Given the description of an element on the screen output the (x, y) to click on. 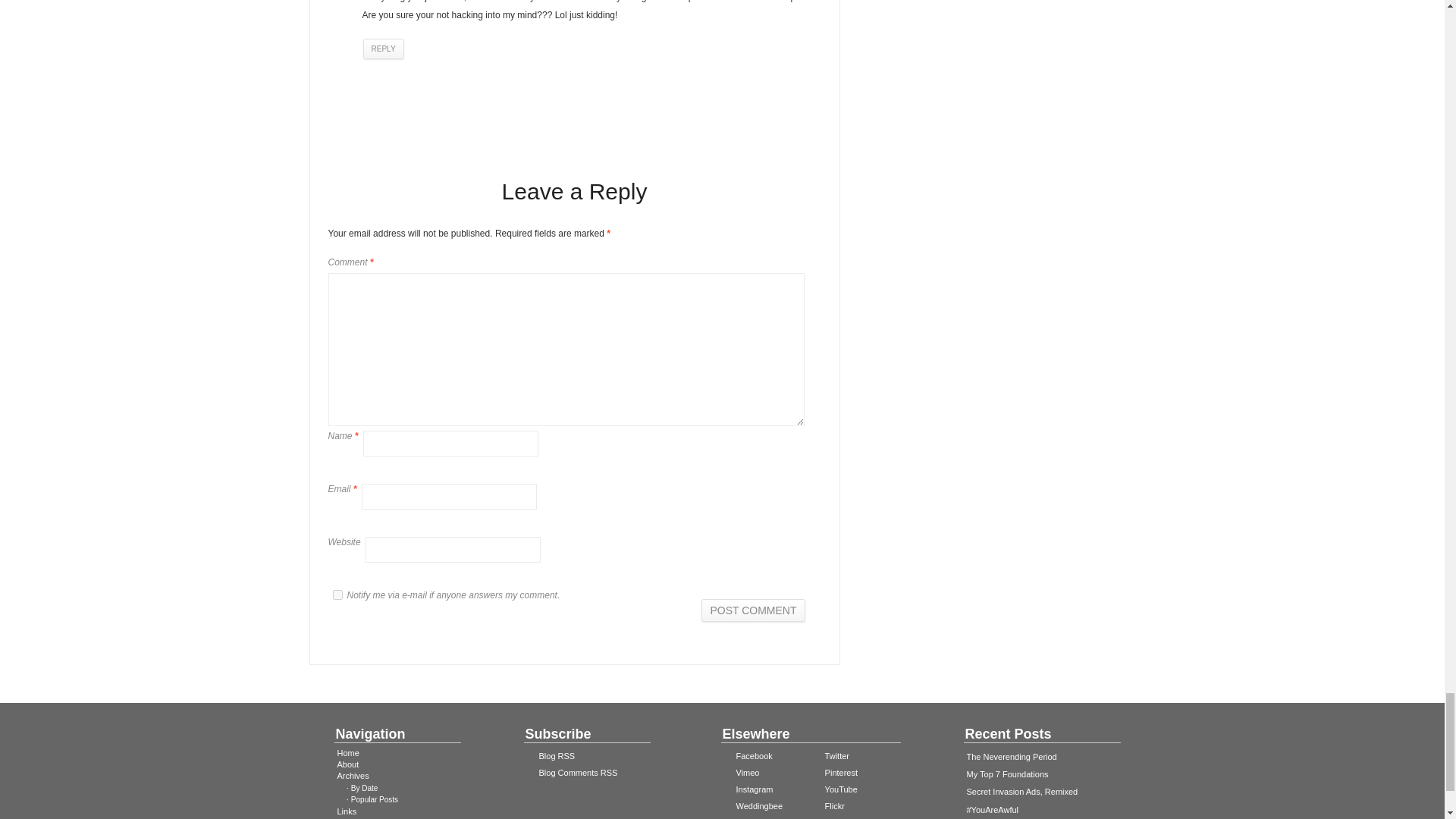
Post Comment (753, 609)
on (336, 594)
